Given the description of an element on the screen output the (x, y) to click on. 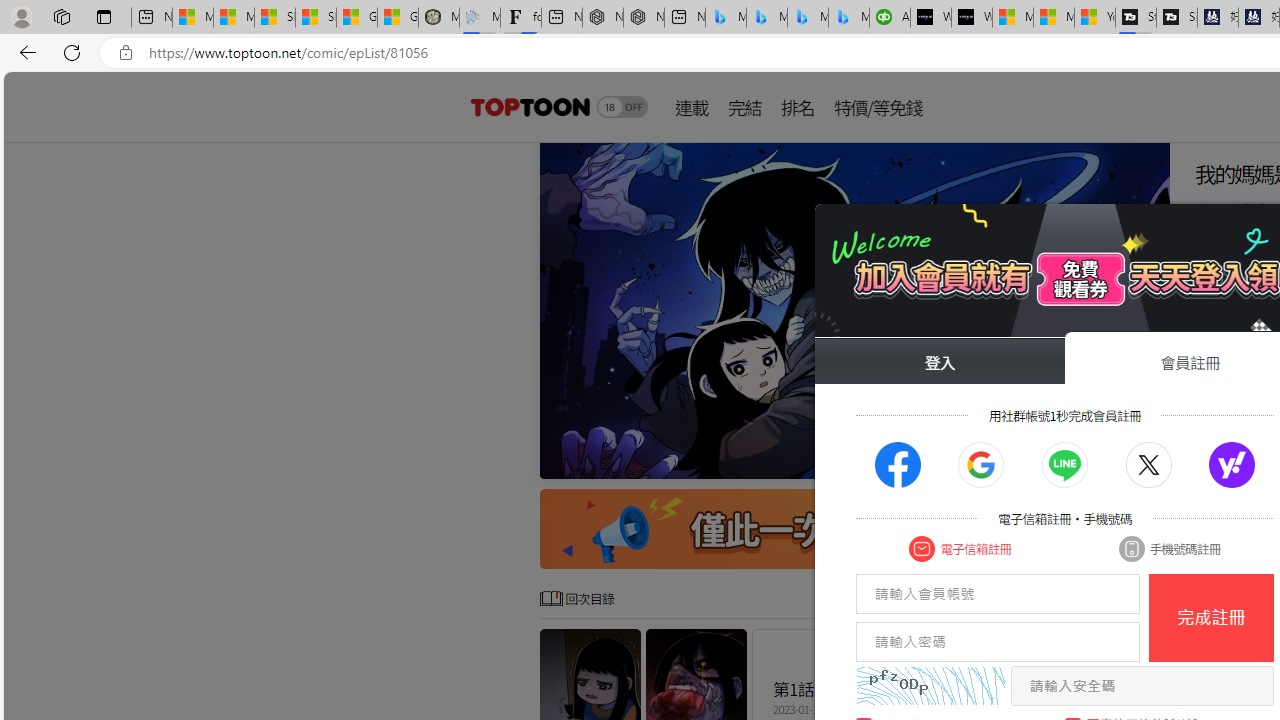
Class: swiper-slide swiper-slide-active (854, 310)
Go to slide 4 (1050, 461)
Go to slide 8 (1114, 461)
Microsoft Start (1053, 17)
